Given the description of an element on the screen output the (x, y) to click on. 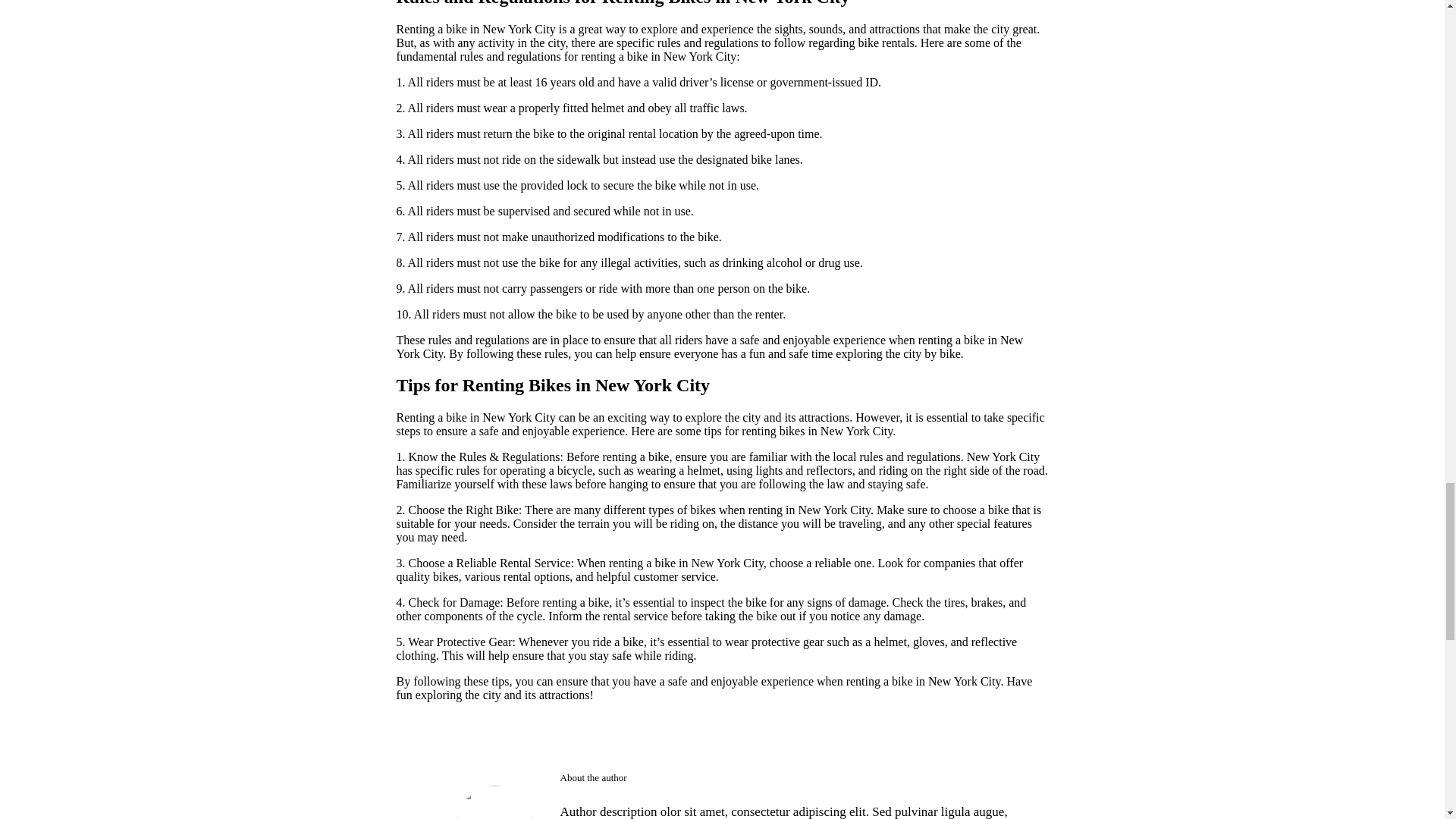
testimonials-2 (494, 802)
